Given the description of an element on the screen output the (x, y) to click on. 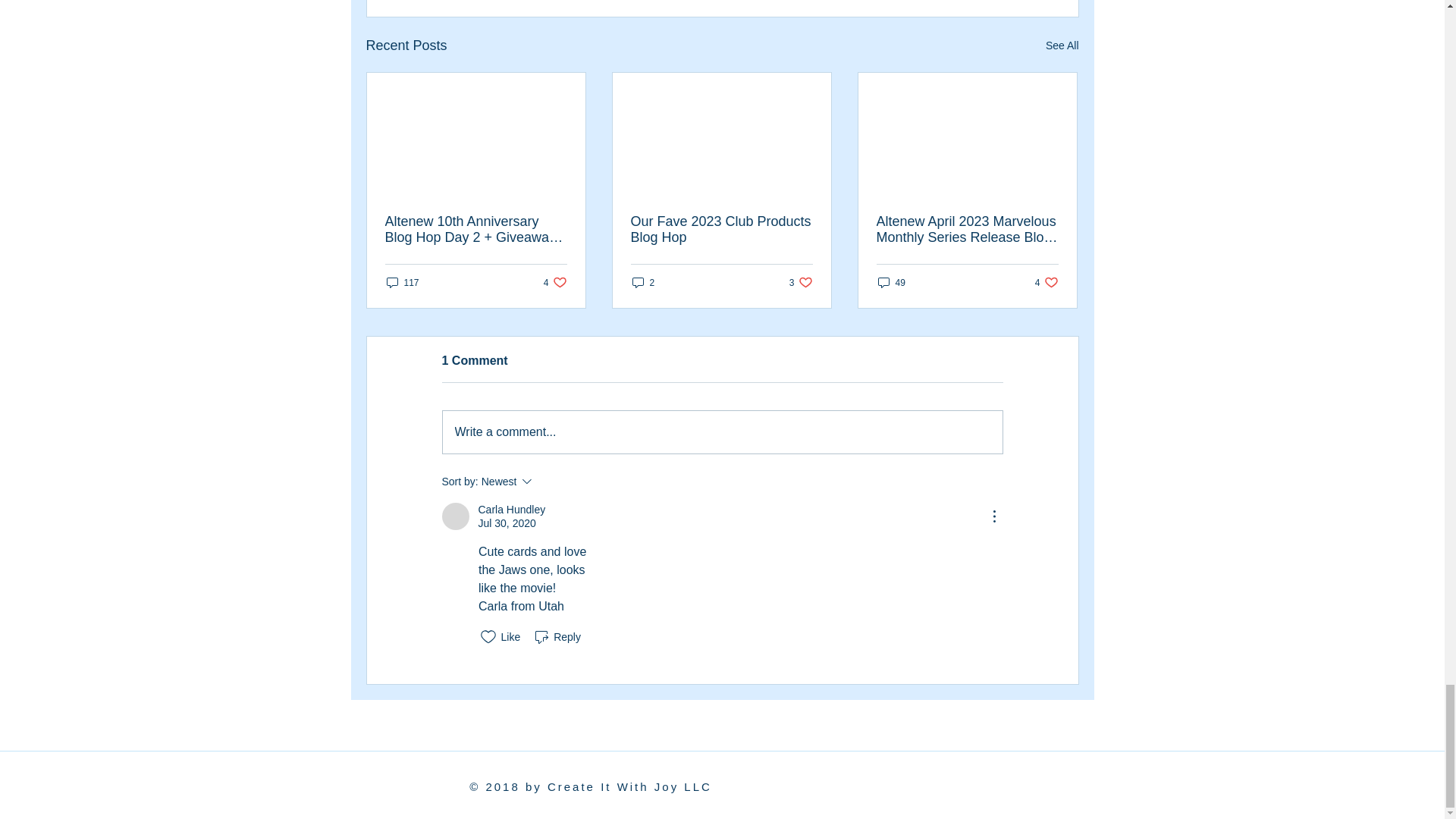
2 (643, 282)
Our Fave 2023 Club Products Blog Hop (555, 282)
Carla Hundley (800, 282)
117 (721, 229)
Carla Hundley (454, 515)
See All (1046, 282)
49 (402, 282)
Write a comment... (510, 509)
